Given the description of an element on the screen output the (x, y) to click on. 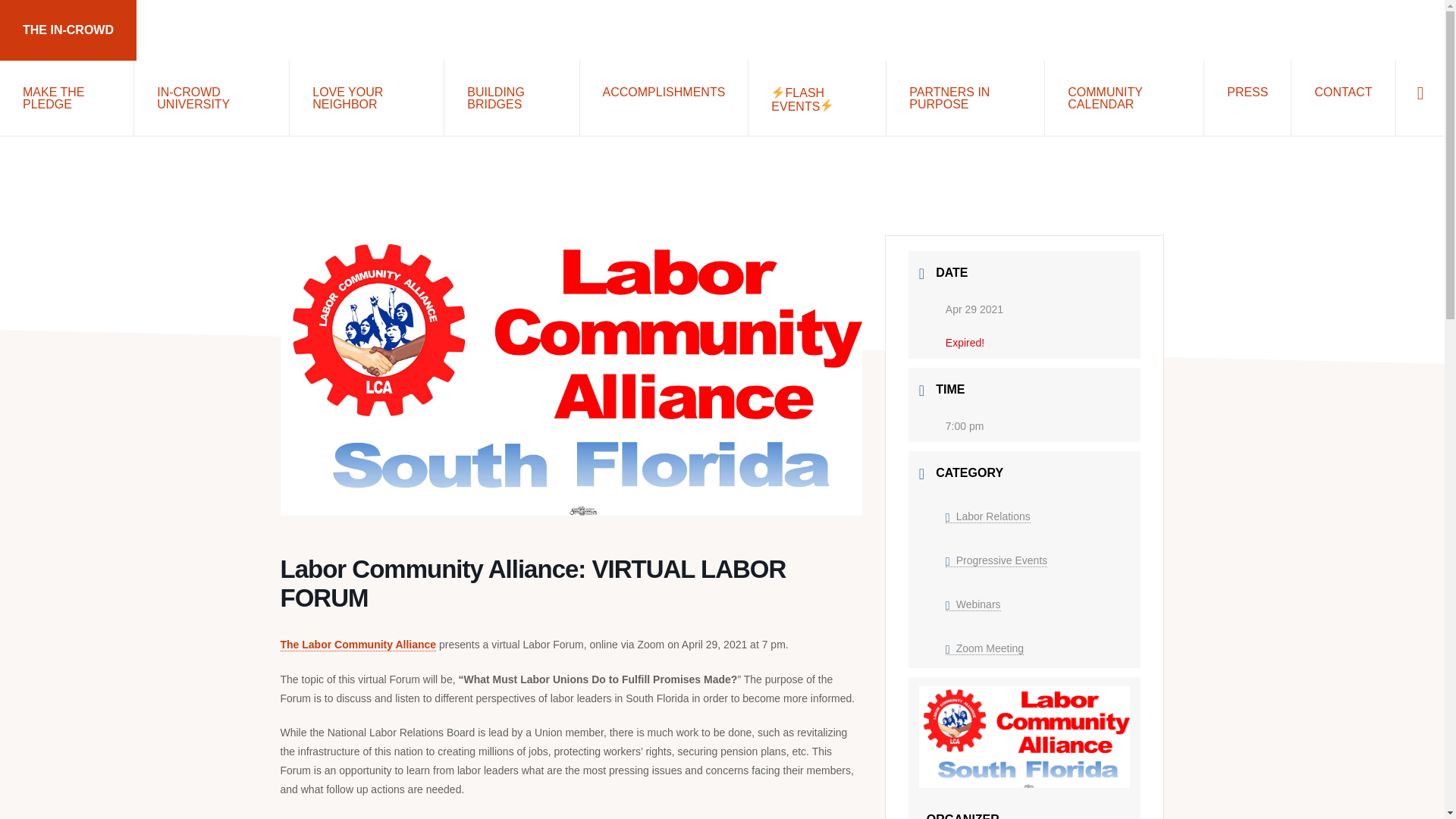
BUILDING BRIDGES (511, 96)
LOVE YOUR NEIGHBOR (366, 96)
PRESS (1247, 90)
Webinars (972, 604)
FLASH EVENTS (816, 97)
ACCOMPLISHMENTS (663, 90)
CONTACT (1342, 90)
PARTNERS IN PURPOSE (964, 96)
IN-CROWD UNIVERSITY (210, 96)
MAKE THE PLEDGE (66, 96)
Labor Relations (987, 516)
Progressive Events (995, 560)
COMMUNITY CALENDAR (1124, 96)
THE IN-CROWD (68, 30)
The Labor Community Alliance (358, 644)
